Given the description of an element on the screen output the (x, y) to click on. 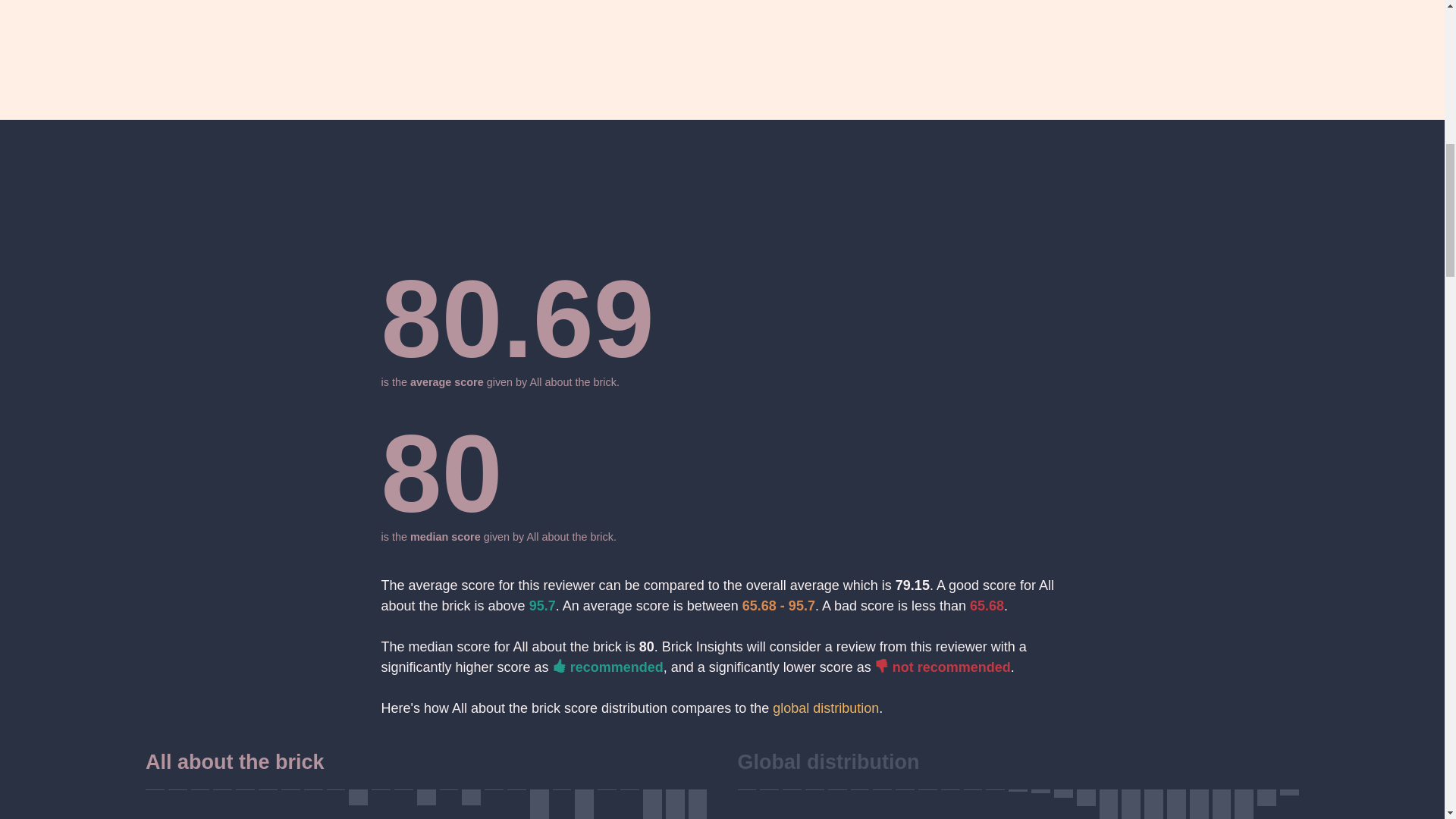
global distribution (826, 708)
